Given the description of an element on the screen output the (x, y) to click on. 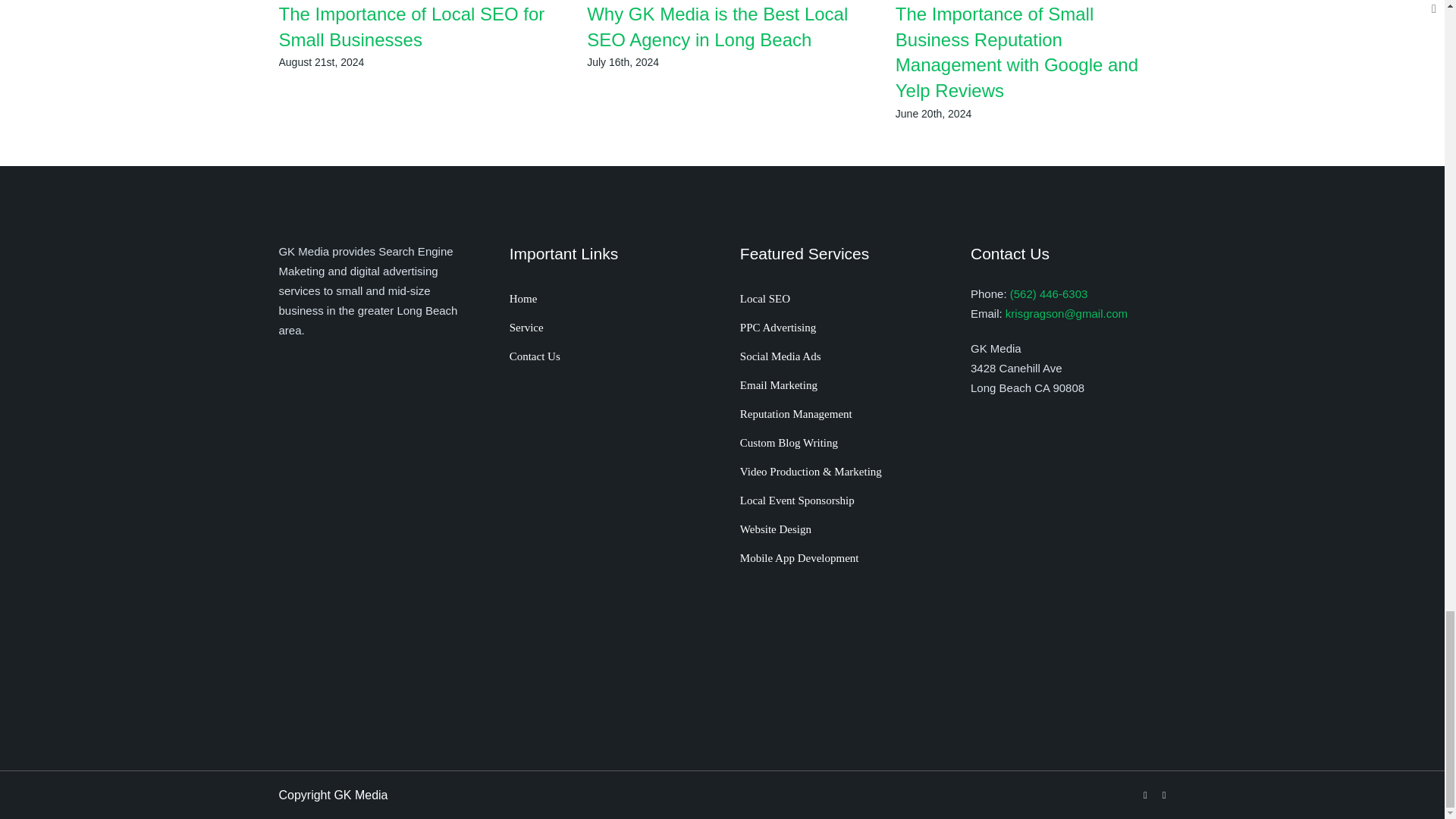
The Importance of Local SEO for Small Businesses (411, 26)
Why GK Media is the Best Local SEO Agency in Long Beach (716, 26)
The Importance of Local SEO for Small Businesses (411, 26)
Best Bus 2024 (606, 492)
